Given the description of an element on the screen output the (x, y) to click on. 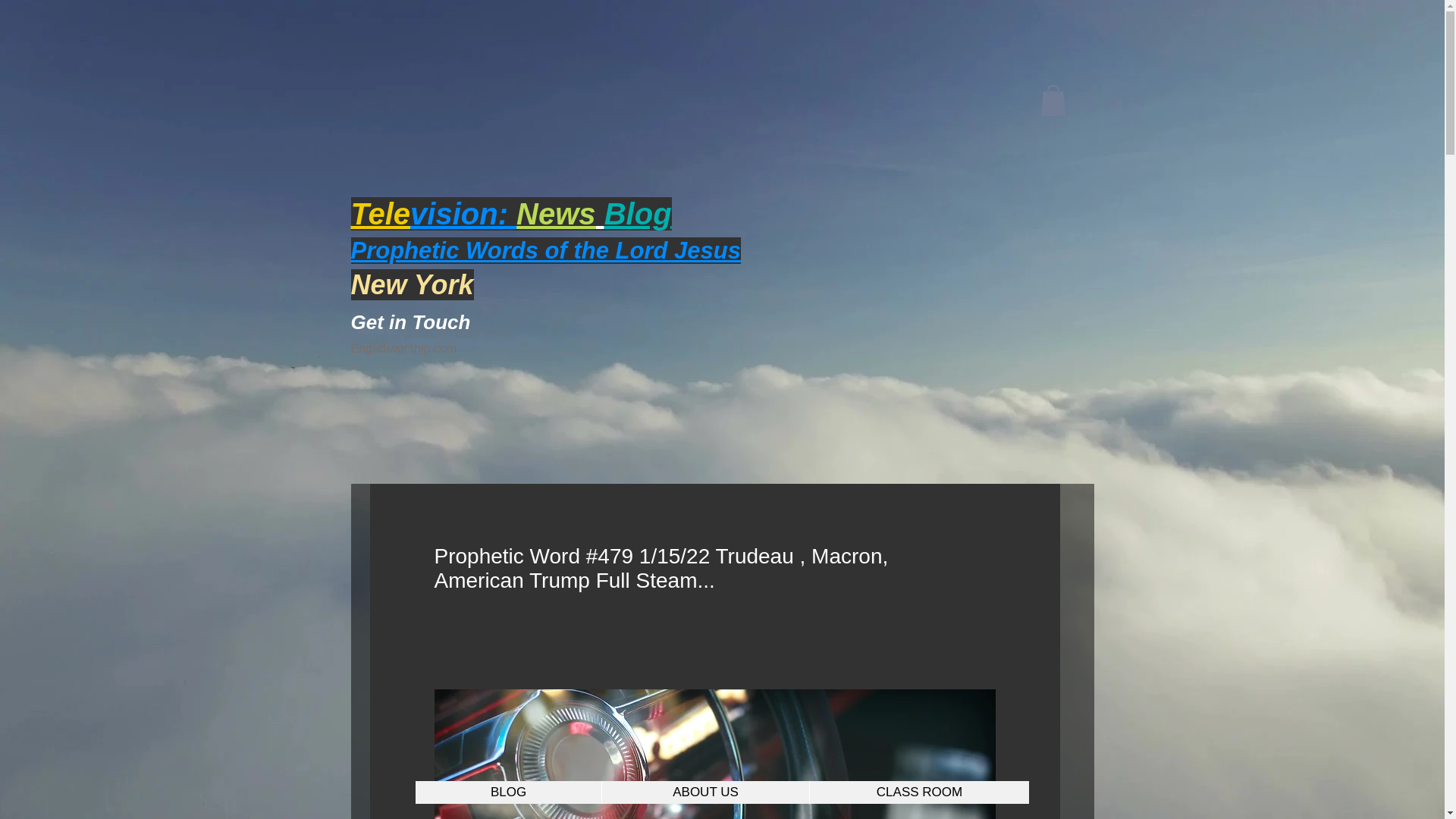
CLASS ROOM (919, 792)
BLOG (507, 792)
ABOUT US (705, 792)
